Given the description of an element on the screen output the (x, y) to click on. 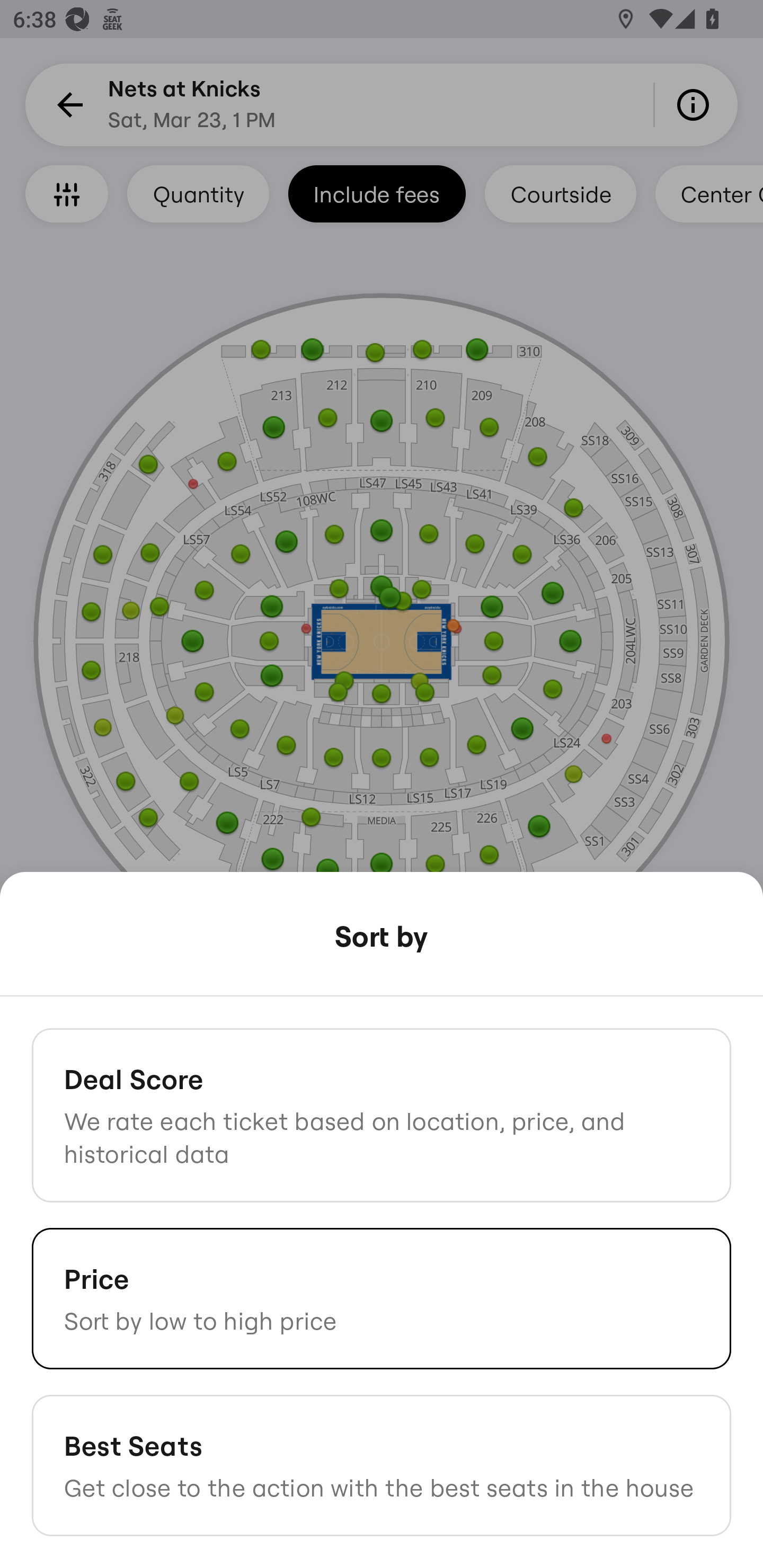
Price Sort by low to high price (381, 1297)
